Given the description of an element on the screen output the (x, y) to click on. 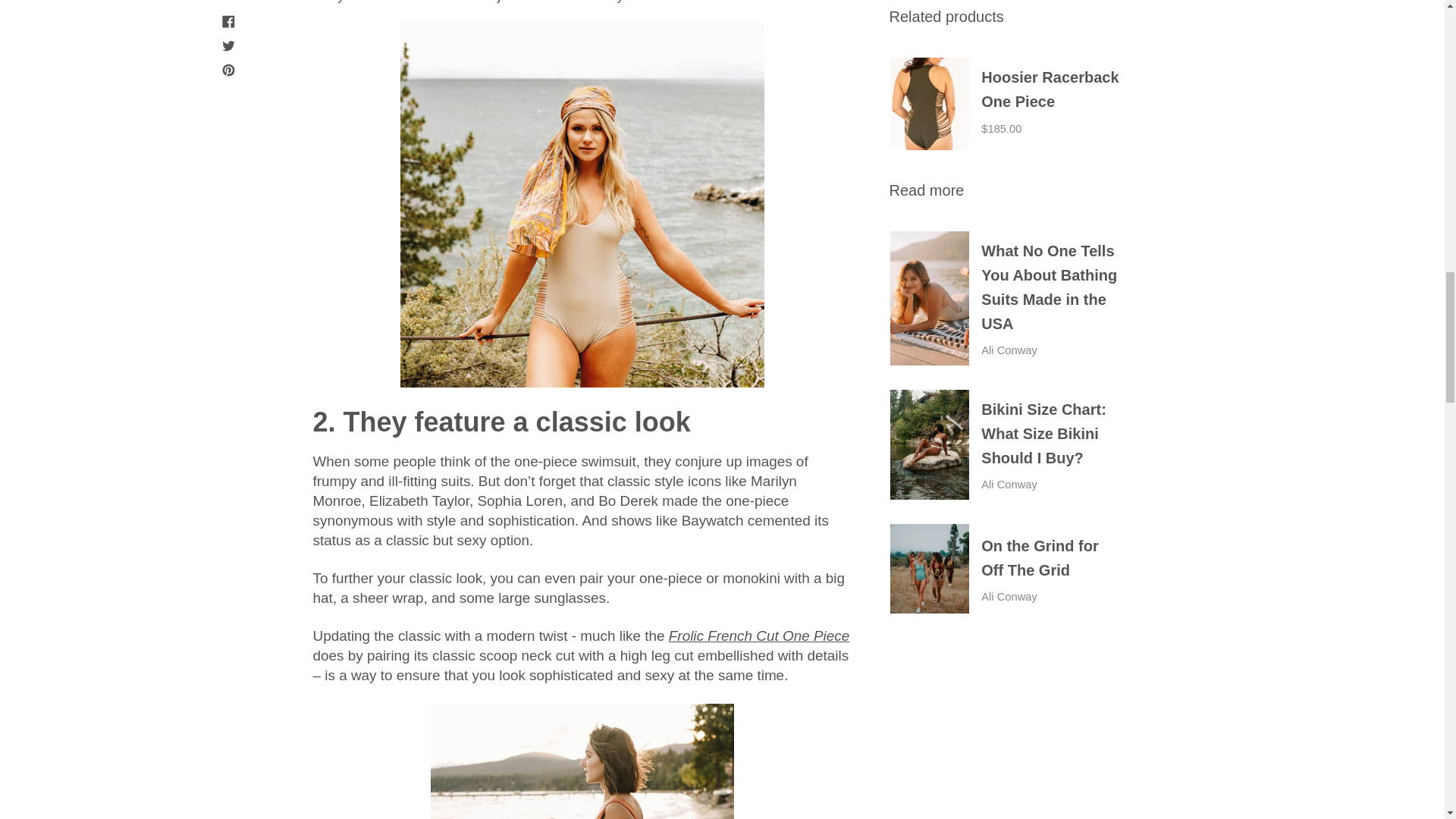
Frolic French Cut One Piece (758, 635)
